Given the description of an element on the screen output the (x, y) to click on. 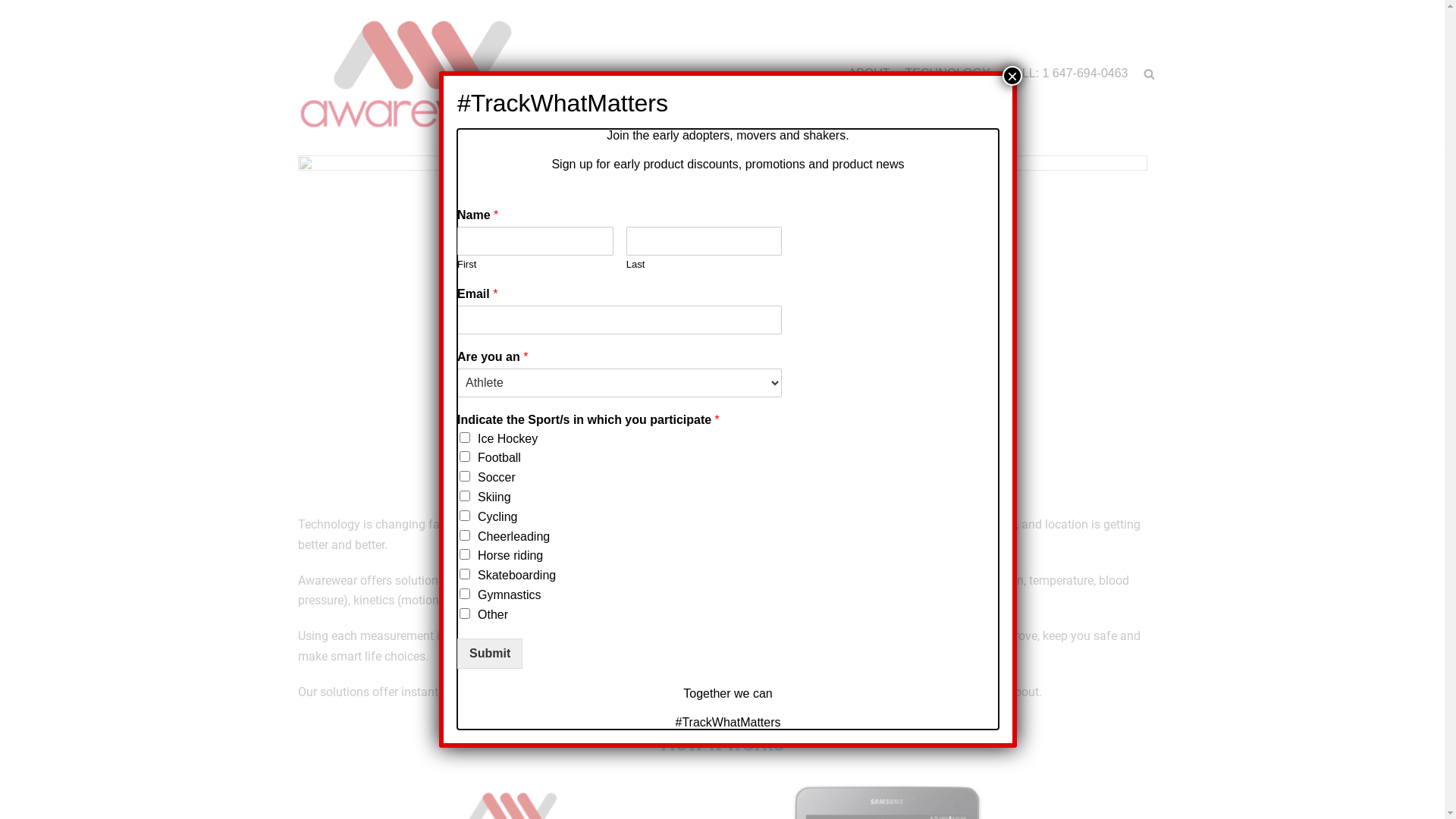
CALL: 1 647-694-0463 Element type: text (1066, 73)
Search Element type: text (1122, 107)
Submit Element type: text (489, 653)
Skip to content Element type: text (15, 7)
awarewear Element type: hover (422, 73)
ABOUT Element type: text (868, 73)
TECHNOLOGY Element type: text (947, 73)
